Given the description of an element on the screen output the (x, y) to click on. 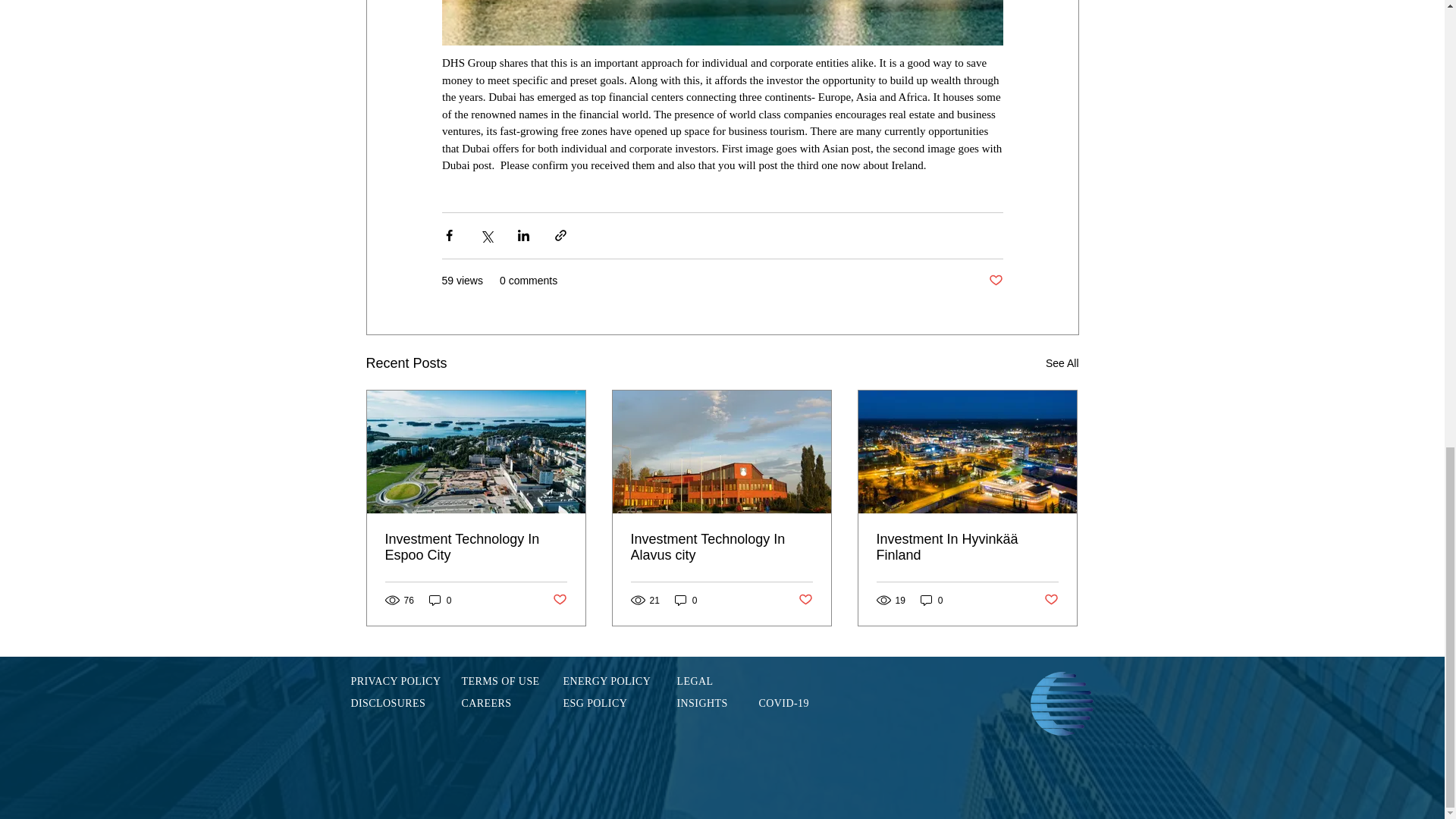
0 (440, 599)
Post not marked as liked (995, 280)
Post not marked as liked (804, 600)
Investment Technology In Espoo City (476, 547)
Post not marked as liked (558, 600)
Investment Technology In Alavus city (721, 547)
0 (685, 599)
See All (1061, 363)
